Given the description of an element on the screen output the (x, y) to click on. 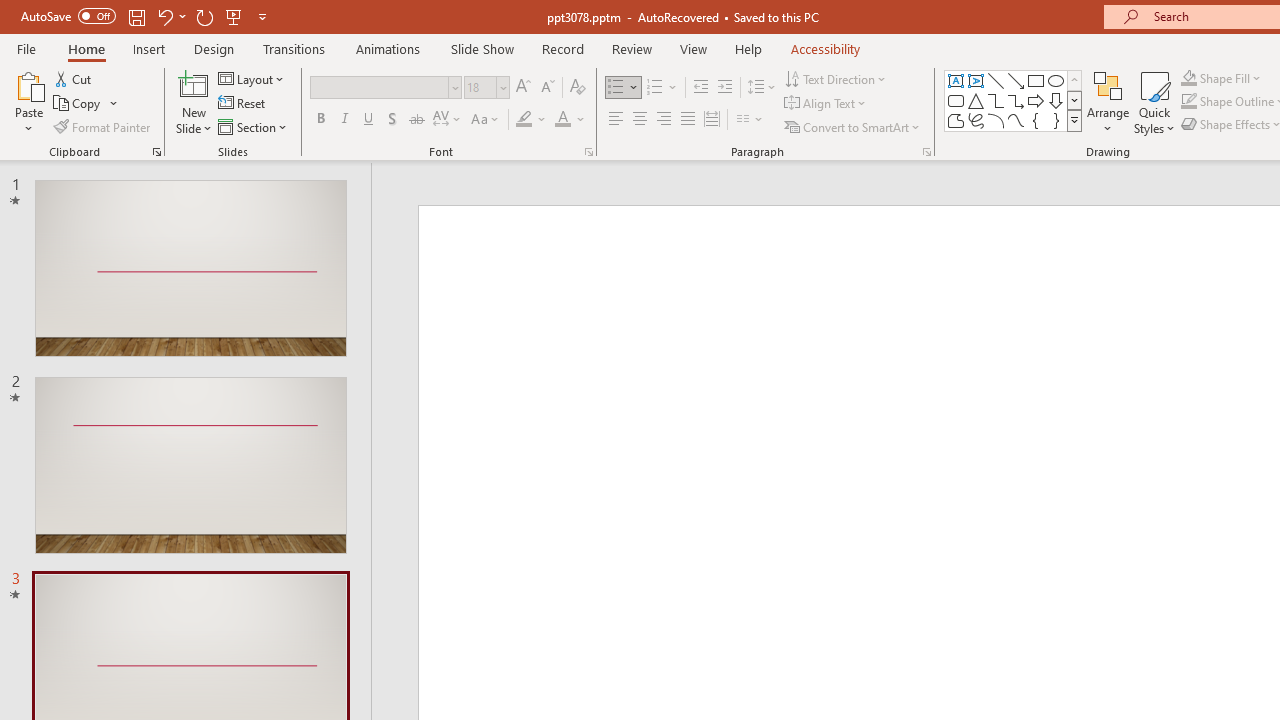
Shape Outline Green, Accent 1 (1188, 101)
